Given the description of an element on the screen output the (x, y) to click on. 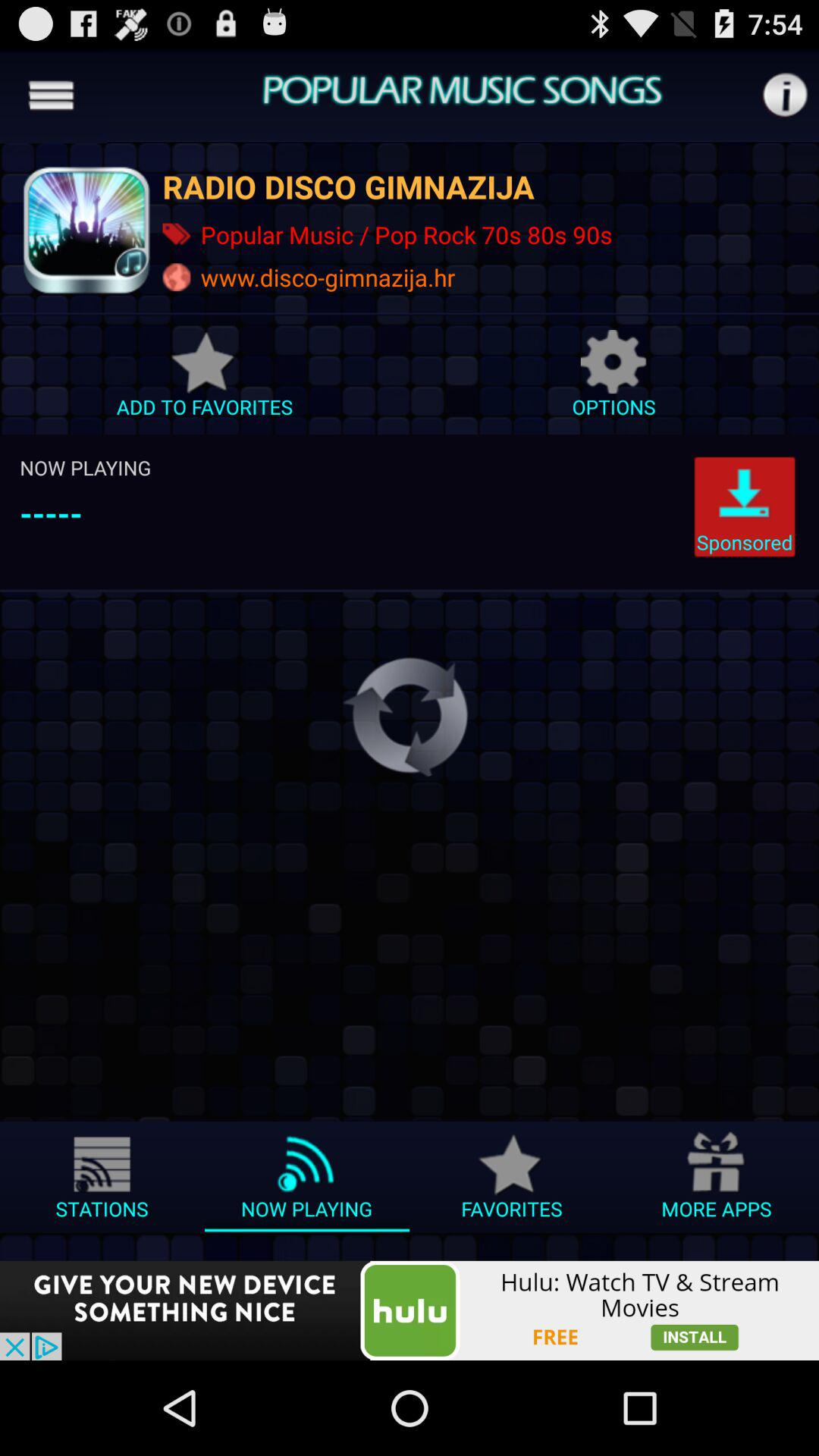
click on more apps (716, 1182)
select the first image on the web page (85, 229)
click on the button which is left side of the more apps (511, 1182)
